Given the description of an element on the screen output the (x, y) to click on. 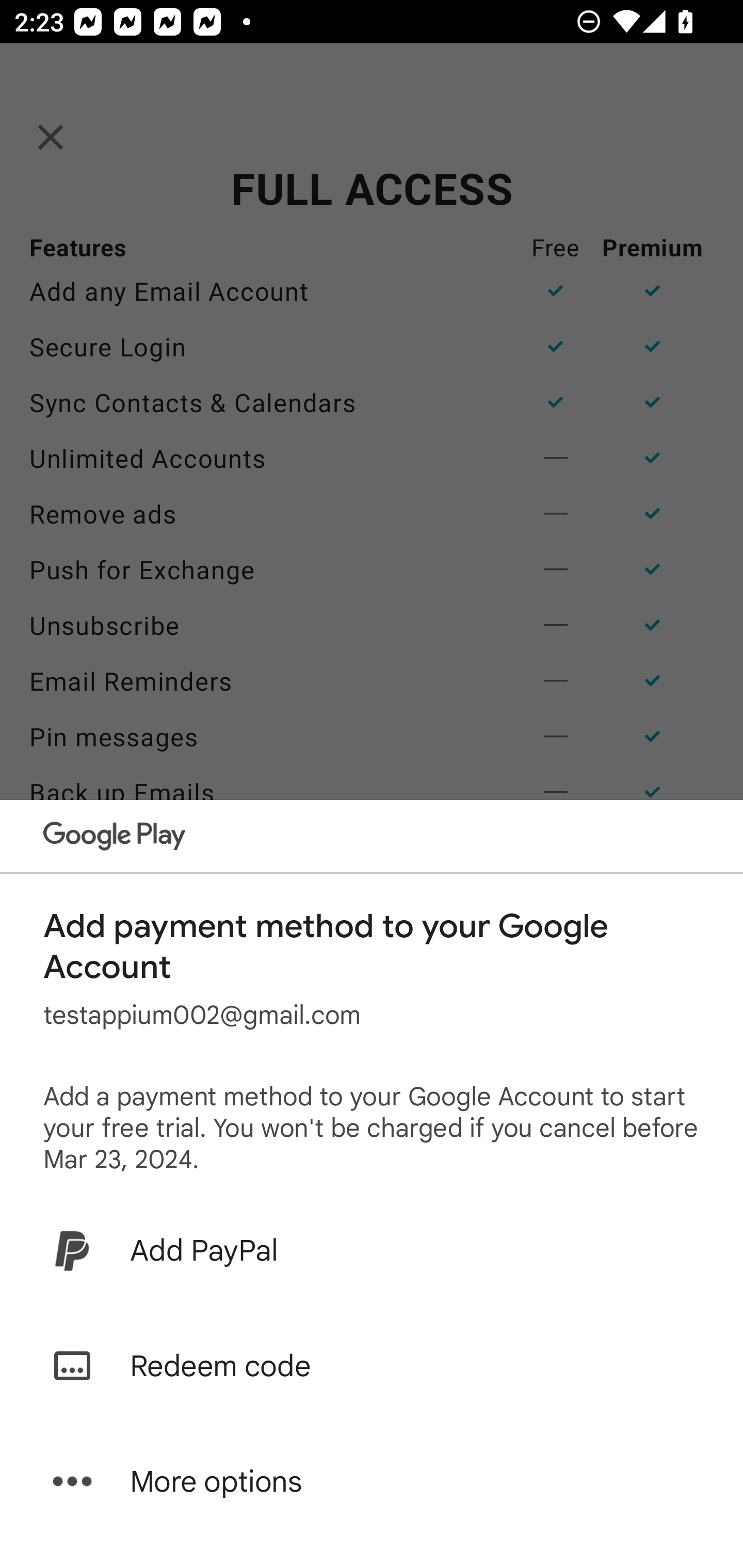
Add PayPal (371, 1250)
Redeem code (371, 1365)
More options (371, 1481)
